Given the description of an element on the screen output the (x, y) to click on. 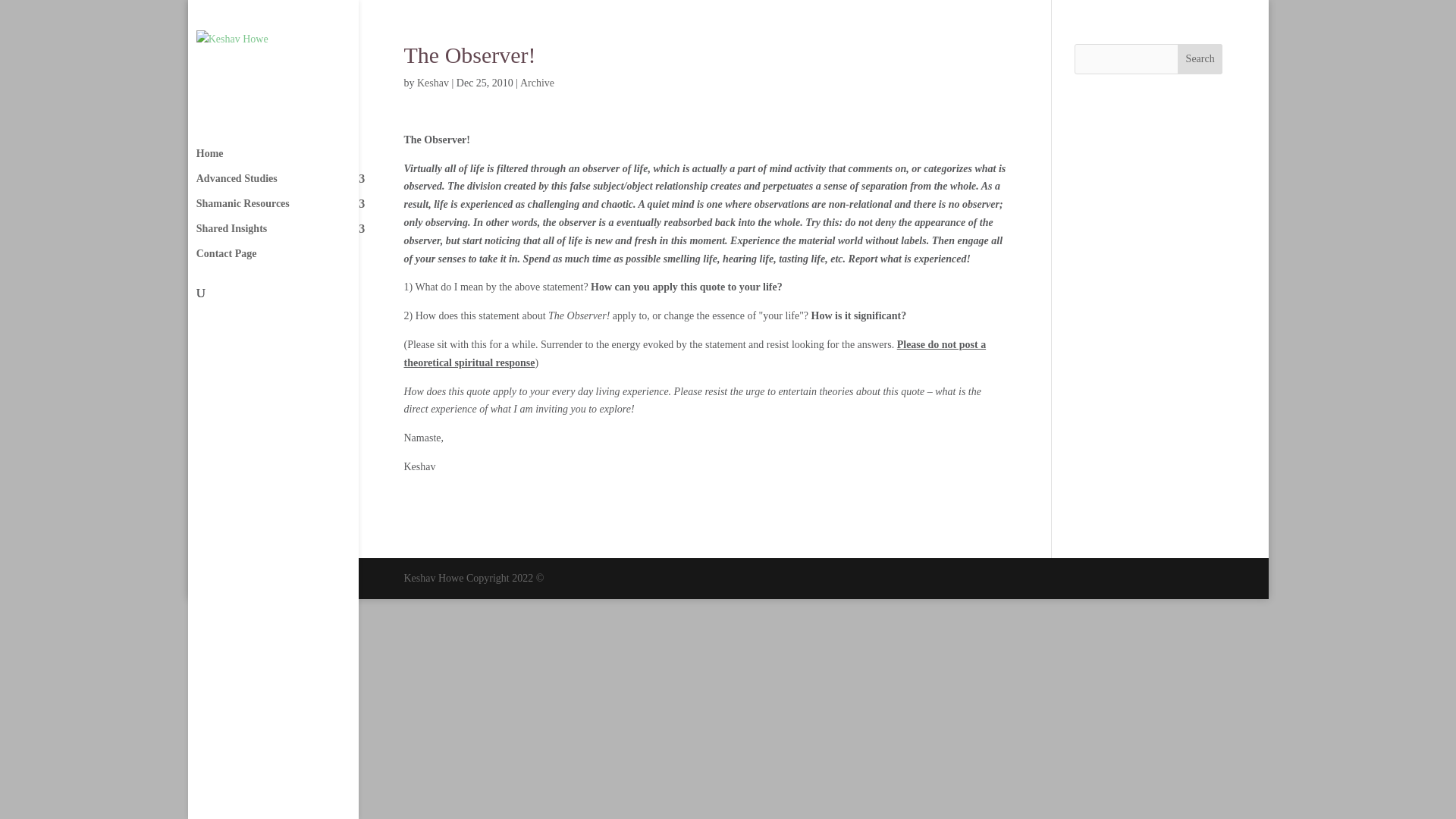
Search (1200, 59)
Advanced Studies (288, 186)
Shared Insights (288, 235)
Posts by Keshav (432, 82)
Home (288, 160)
Keshav (432, 82)
Shamanic Resources (288, 211)
Archive (536, 82)
Contact Page (288, 260)
